Given the description of an element on the screen output the (x, y) to click on. 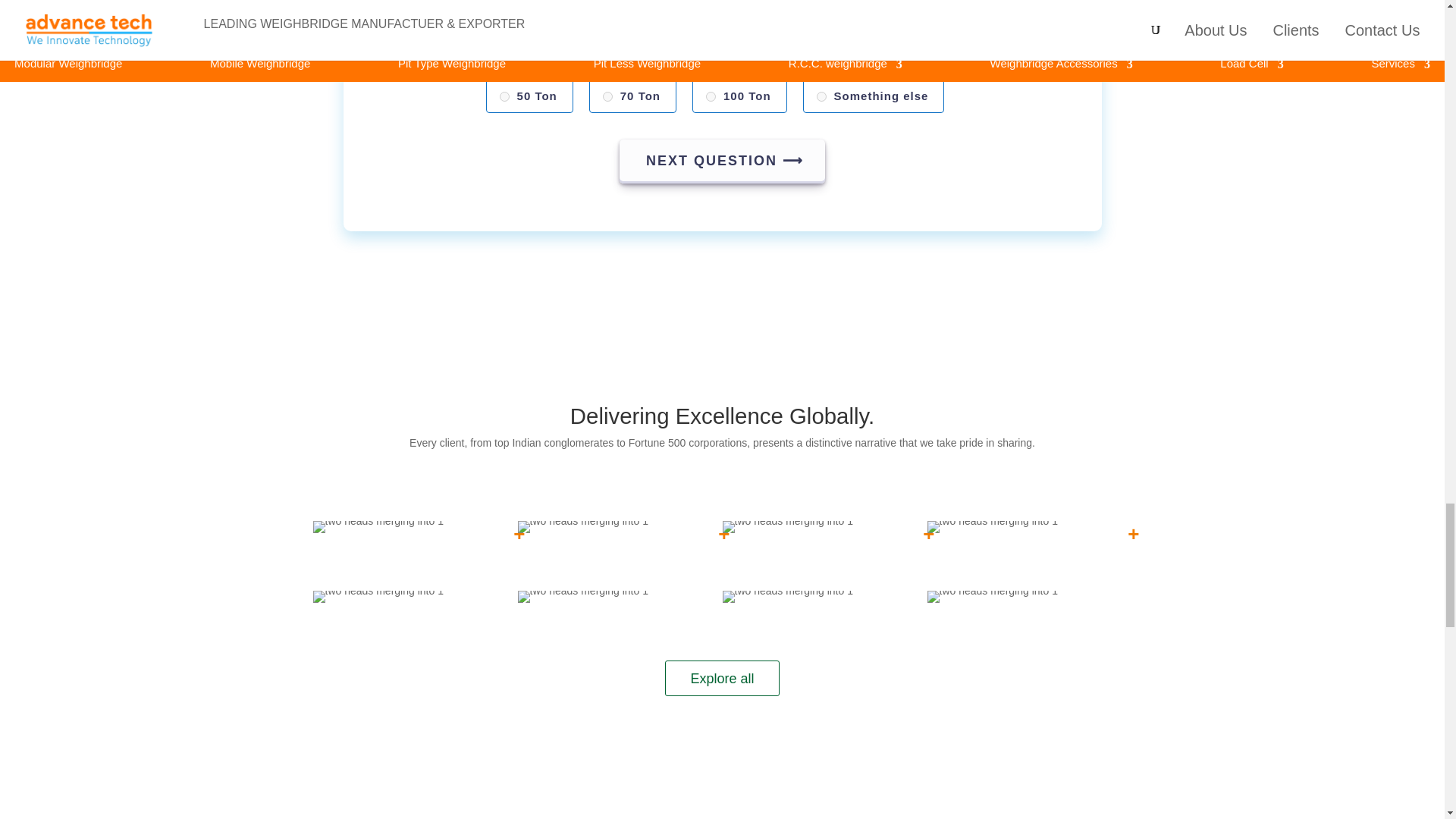
logo4 (377, 596)
red (504, 96)
green (607, 96)
logo7 (991, 596)
logo (377, 526)
green (821, 96)
green (711, 96)
logo5 (581, 596)
logo3 (991, 526)
logo6 (786, 596)
